Given the description of an element on the screen output the (x, y) to click on. 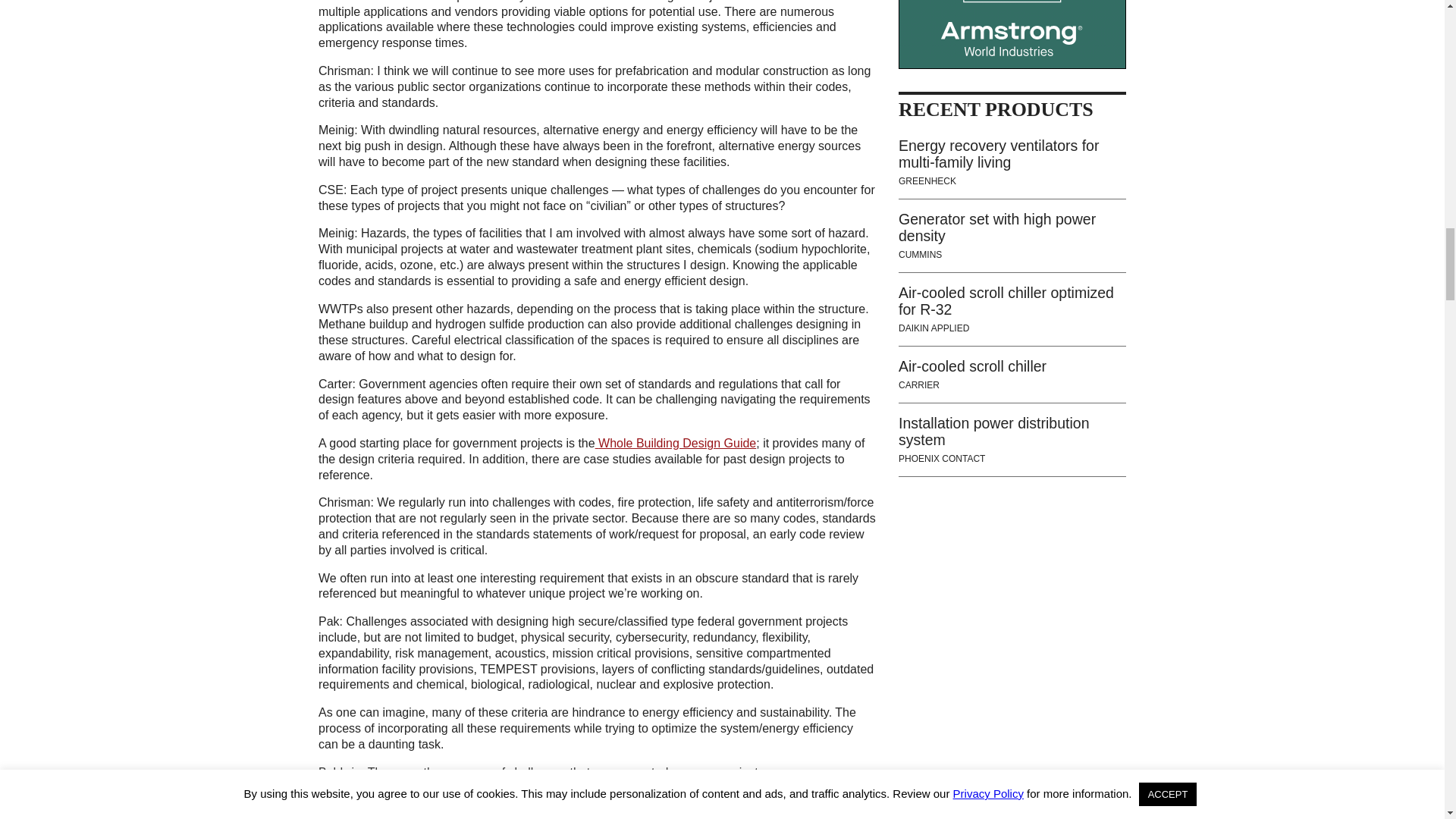
3rd party ad content (1011, 34)
